Given the description of an element on the screen output the (x, y) to click on. 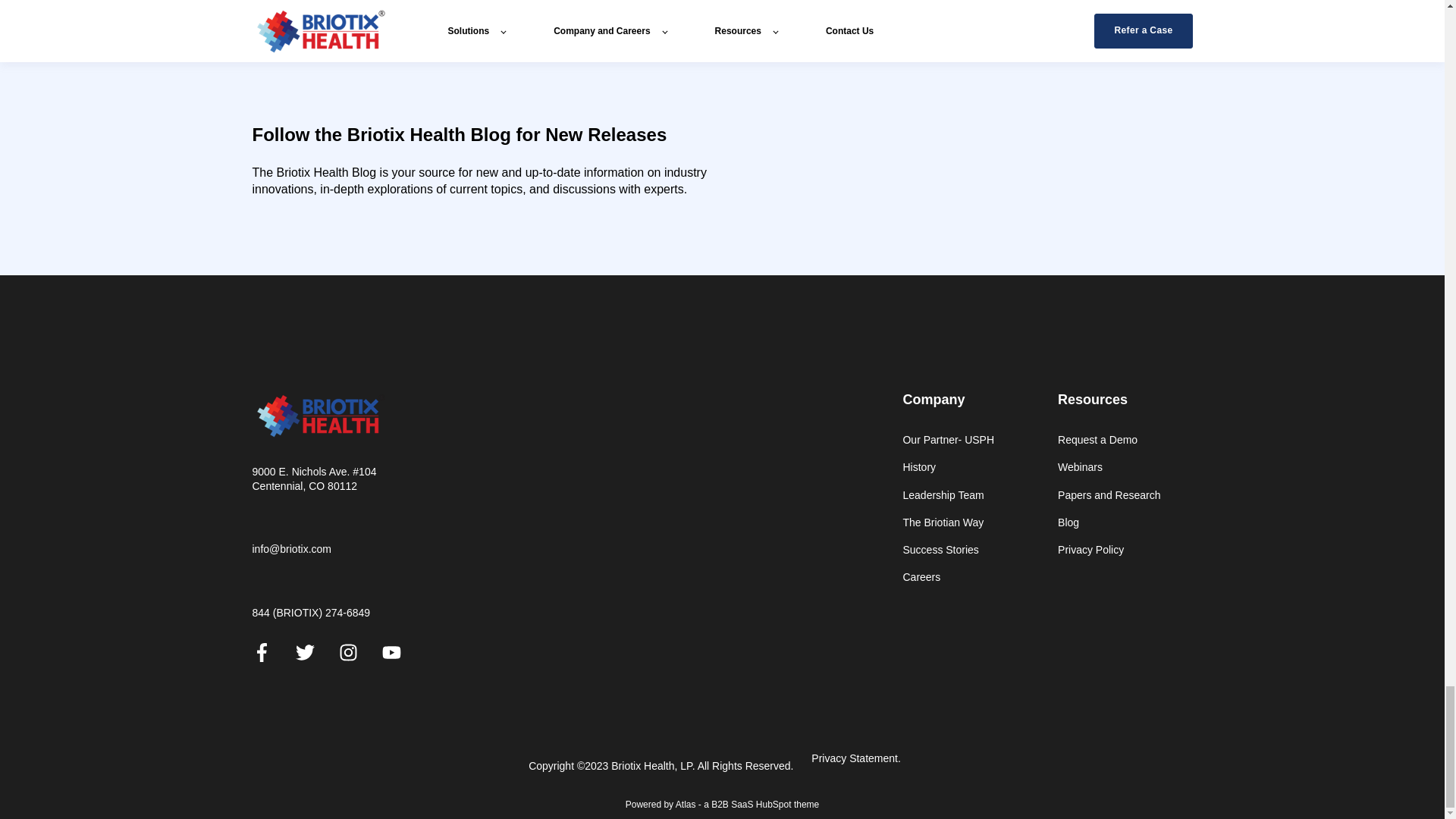
Our Partner- USPH (948, 440)
History (948, 467)
The Briotian Way (948, 522)
Leadership Team (948, 495)
